Given the description of an element on the screen output the (x, y) to click on. 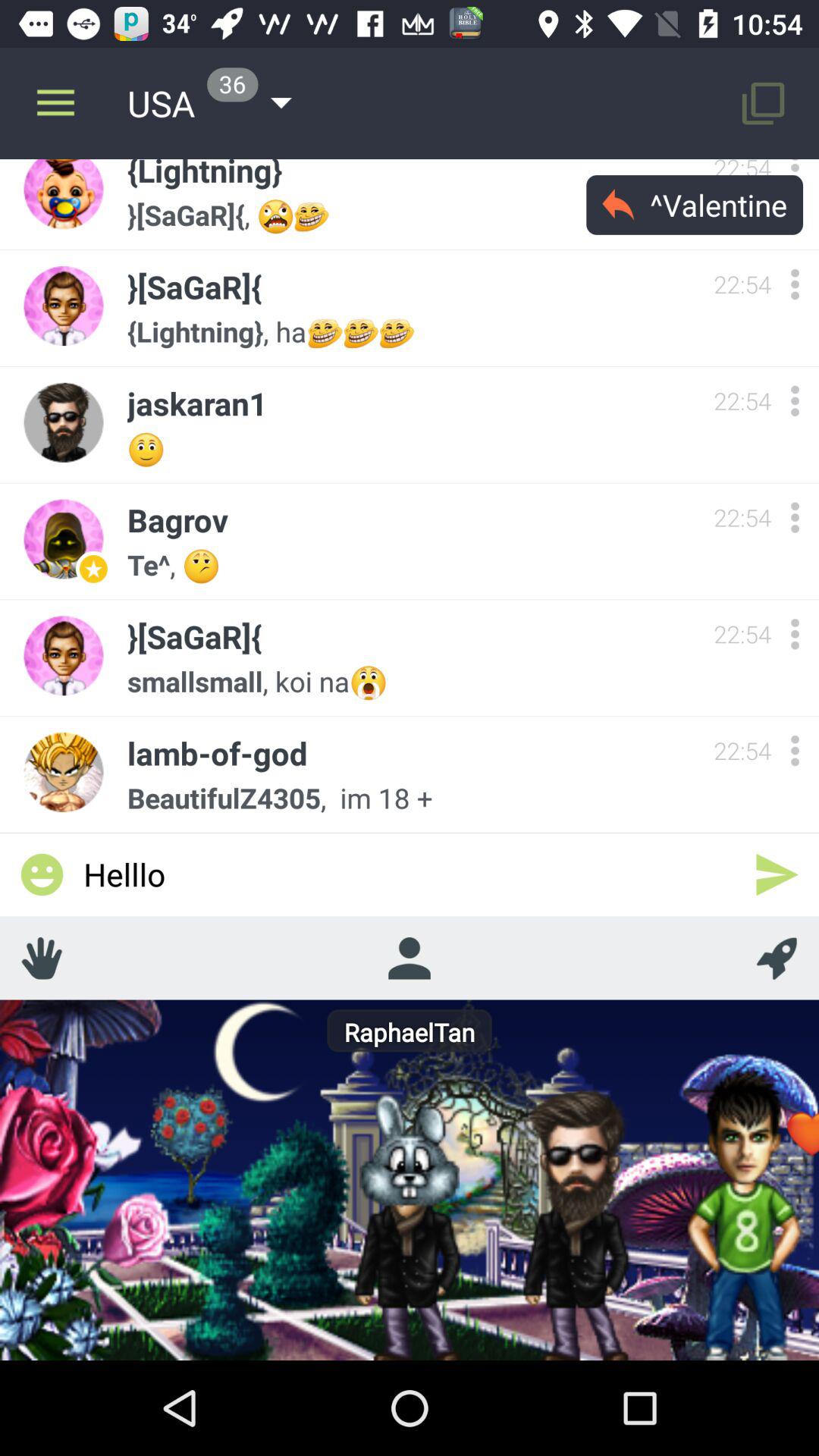
open option menu (795, 175)
